Given the description of an element on the screen output the (x, y) to click on. 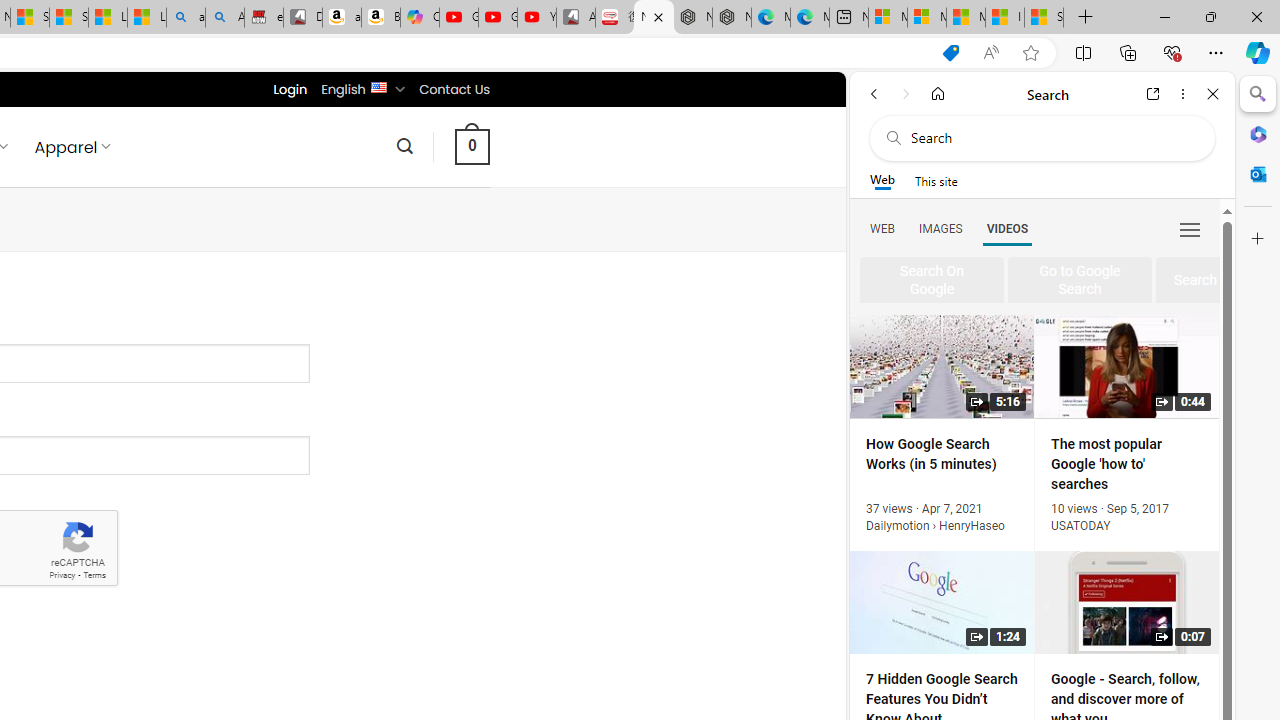
VIDEOS   (1007, 228)
This site scope (936, 180)
 0  (472, 146)
I Gained 20 Pounds of Muscle in 30 Days! | Watch (1004, 17)
Nordace - Nordace has arrived Hong Kong (732, 17)
Copilot (419, 17)
Contact Us (454, 89)
